Given the description of an element on the screen output the (x, y) to click on. 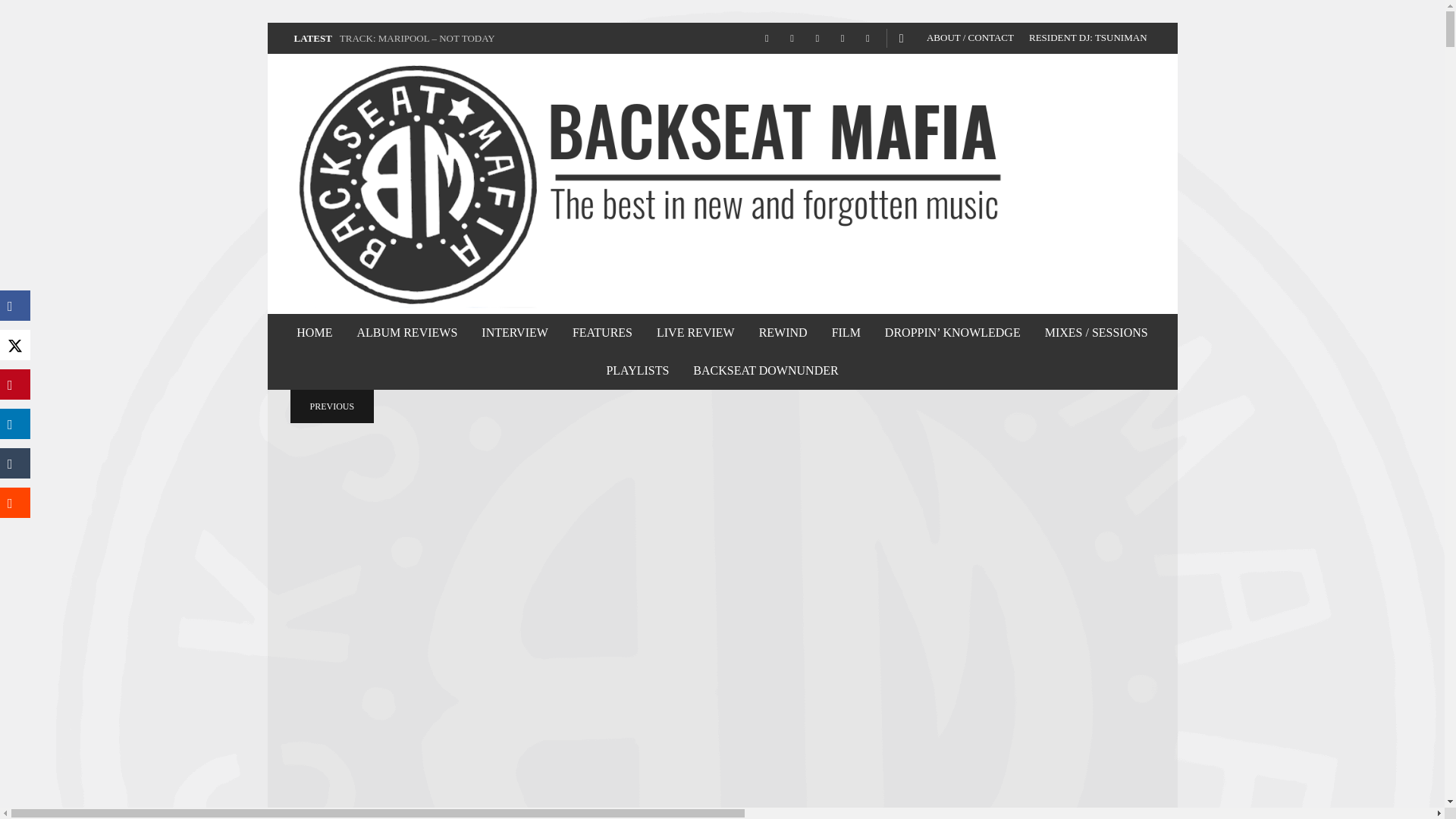
FILM (845, 332)
INTERVIEW (514, 332)
HOME (313, 332)
FEATURES (602, 332)
LIVE REVIEW (695, 332)
PLAYLISTS (637, 370)
REWIND (782, 332)
ALBUM REVIEWS (405, 332)
RESIDENT DJ: TSUNIMAN (1088, 37)
